Given the description of an element on the screen output the (x, y) to click on. 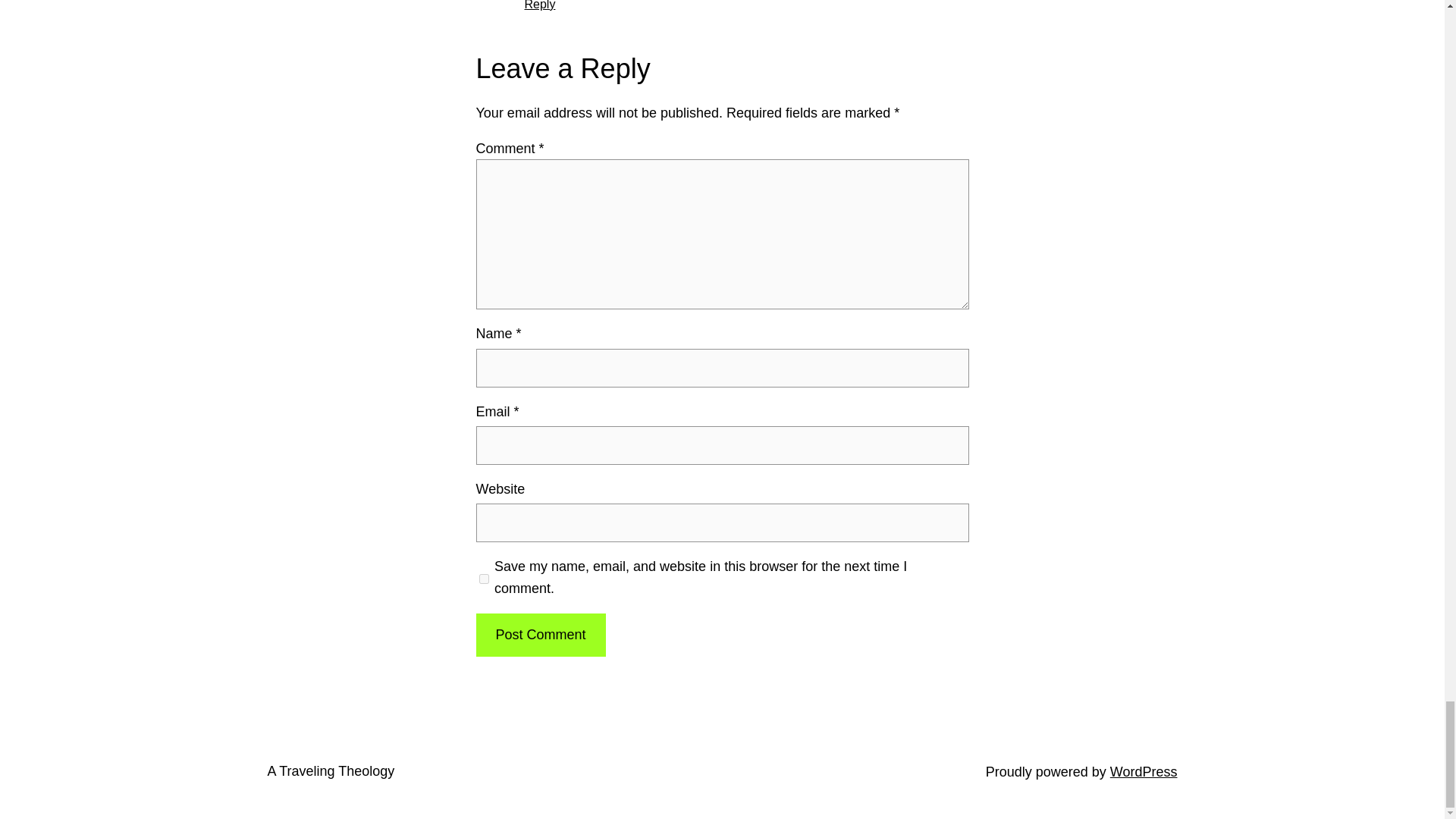
Post Comment (540, 634)
